Given the description of an element on the screen output the (x, y) to click on. 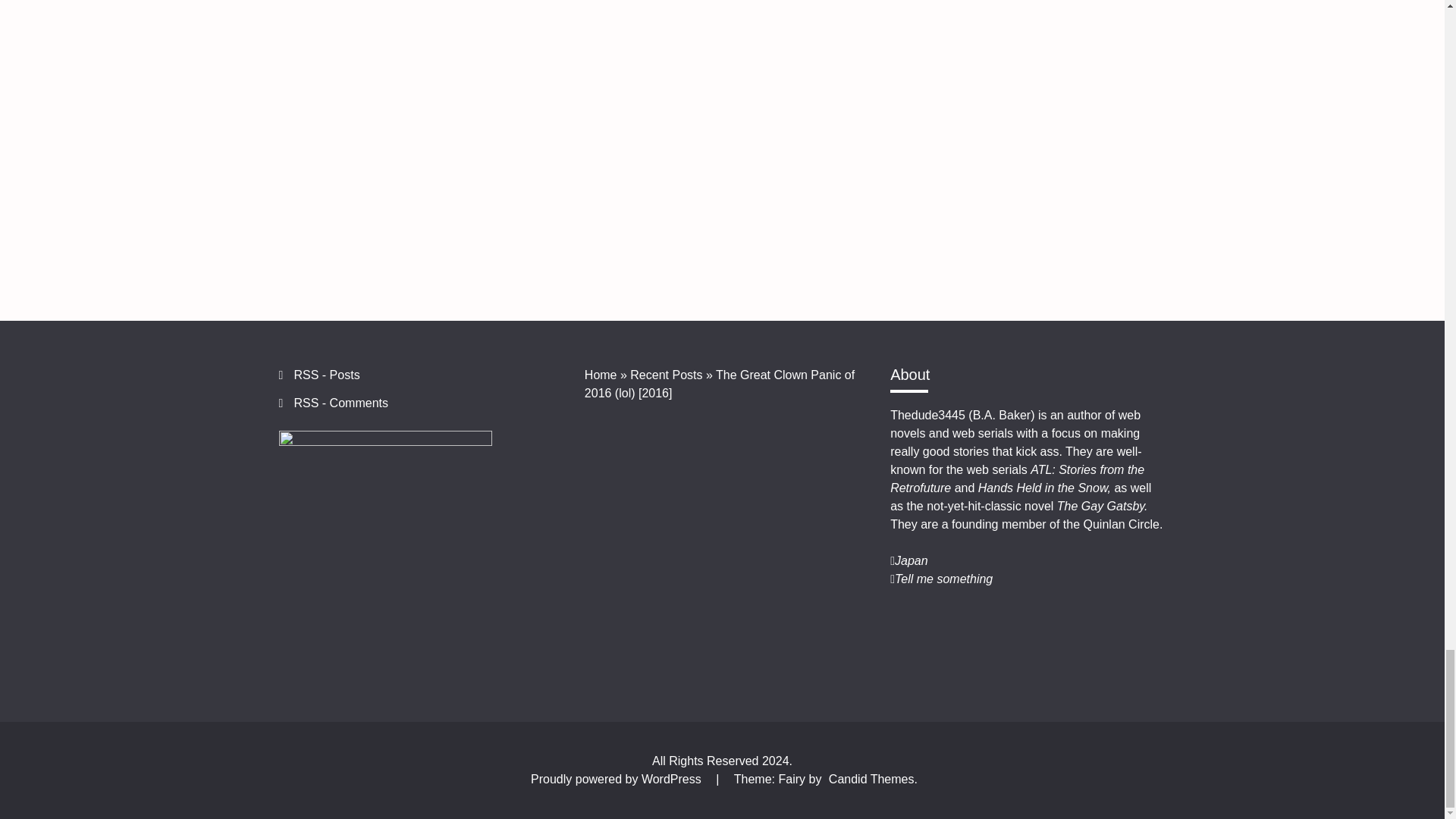
Subscribe to comments (341, 402)
Subscribe to posts (326, 374)
